Given the description of an element on the screen output the (x, y) to click on. 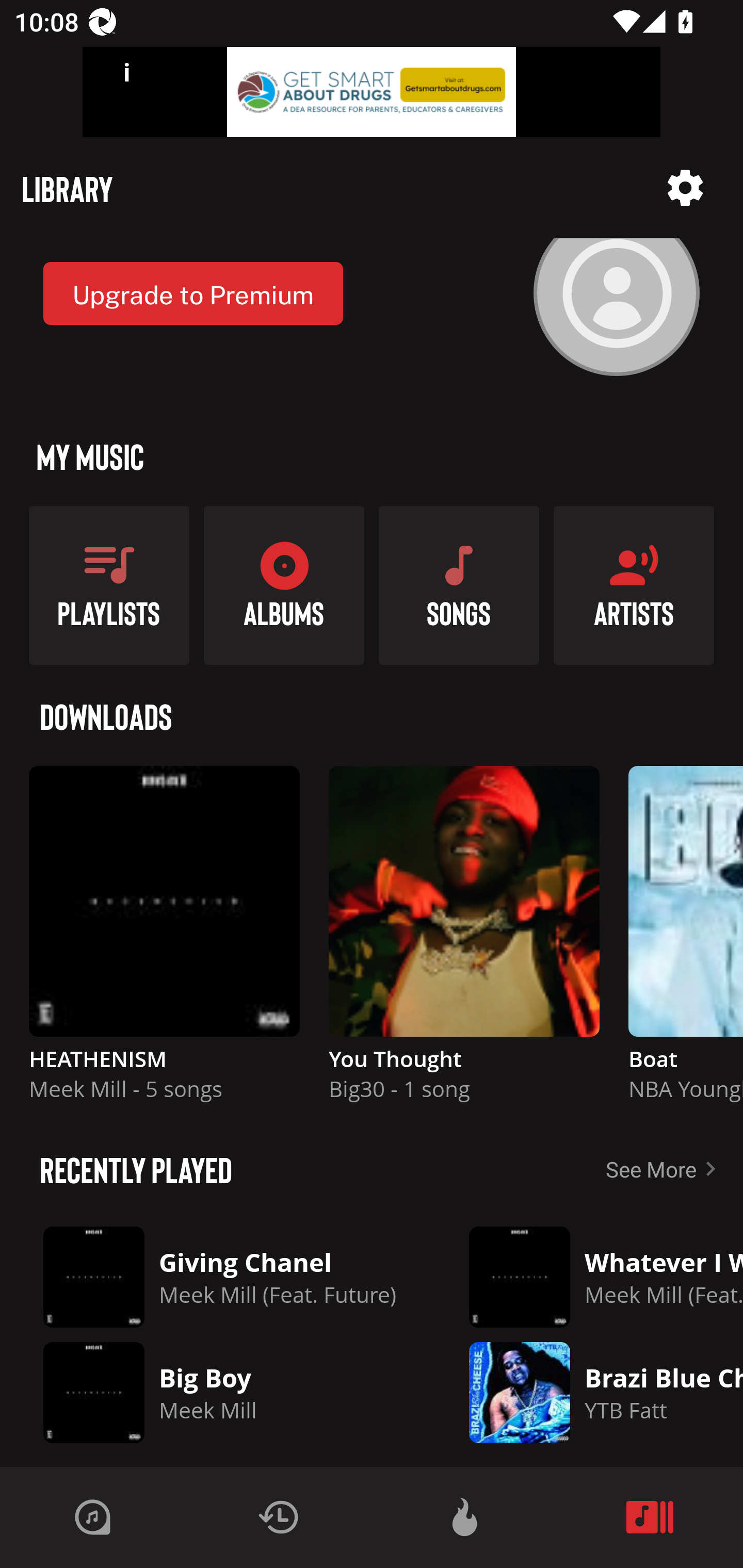
Description (684, 188)
Upgrade to Premium (193, 292)
Playlists (108, 585)
Albums (283, 585)
Songs (458, 585)
Artists (633, 585)
Description HEATHENISM Meek Mill - 5 songs (164, 941)
Description You Thought Big30 - 1 song (463, 941)
See More (664, 1168)
Description Giving Chanel Meek Mill (Feat. Future) (219, 1276)
Description Big Boy Meek Mill (219, 1392)
Description Brazi Blue Cheese YTB Fatt (591, 1392)
